Given the description of an element on the screen output the (x, y) to click on. 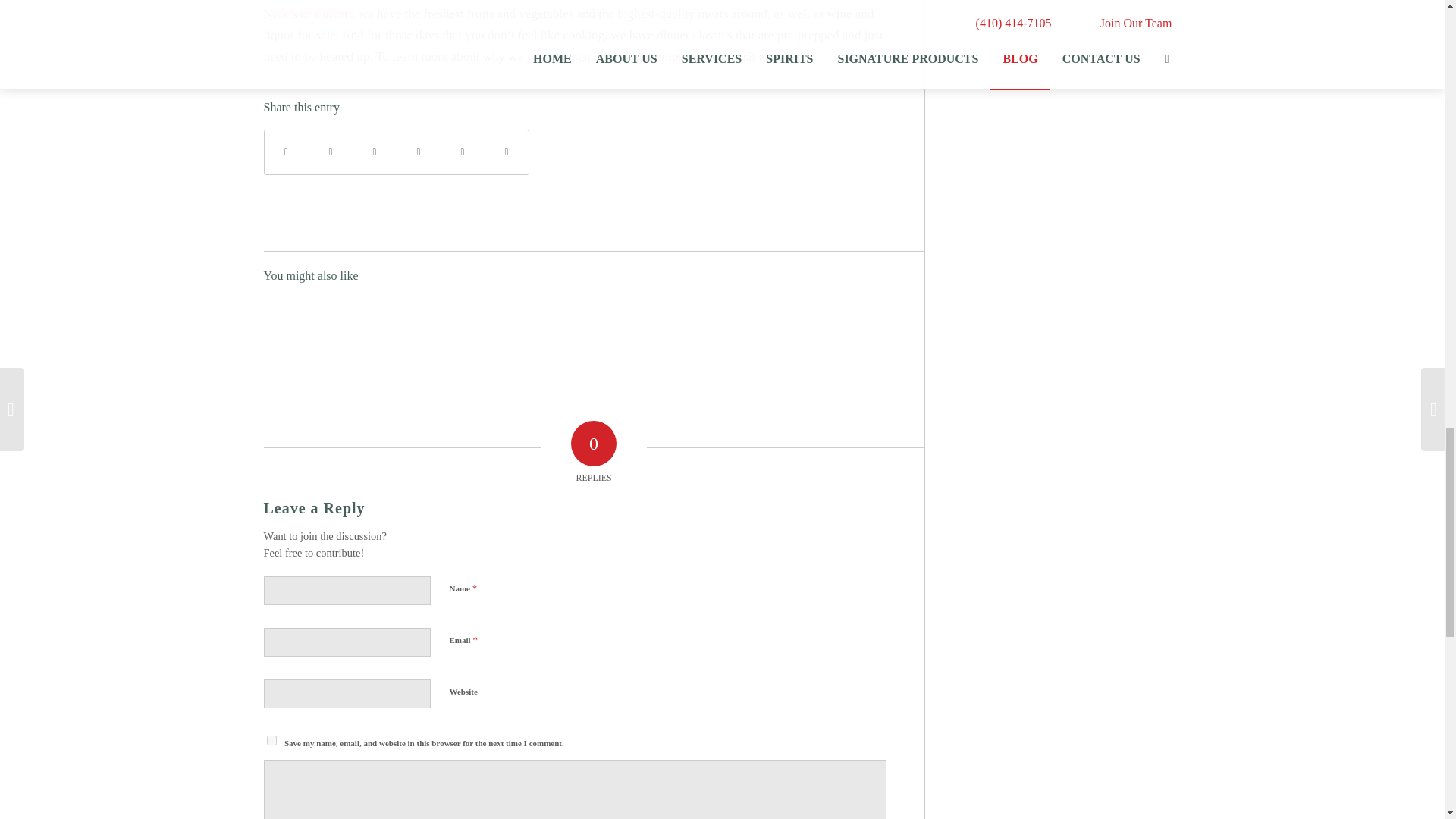
yes (271, 740)
The Benefits of Shopping Local (378, 335)
